Given the description of an element on the screen output the (x, y) to click on. 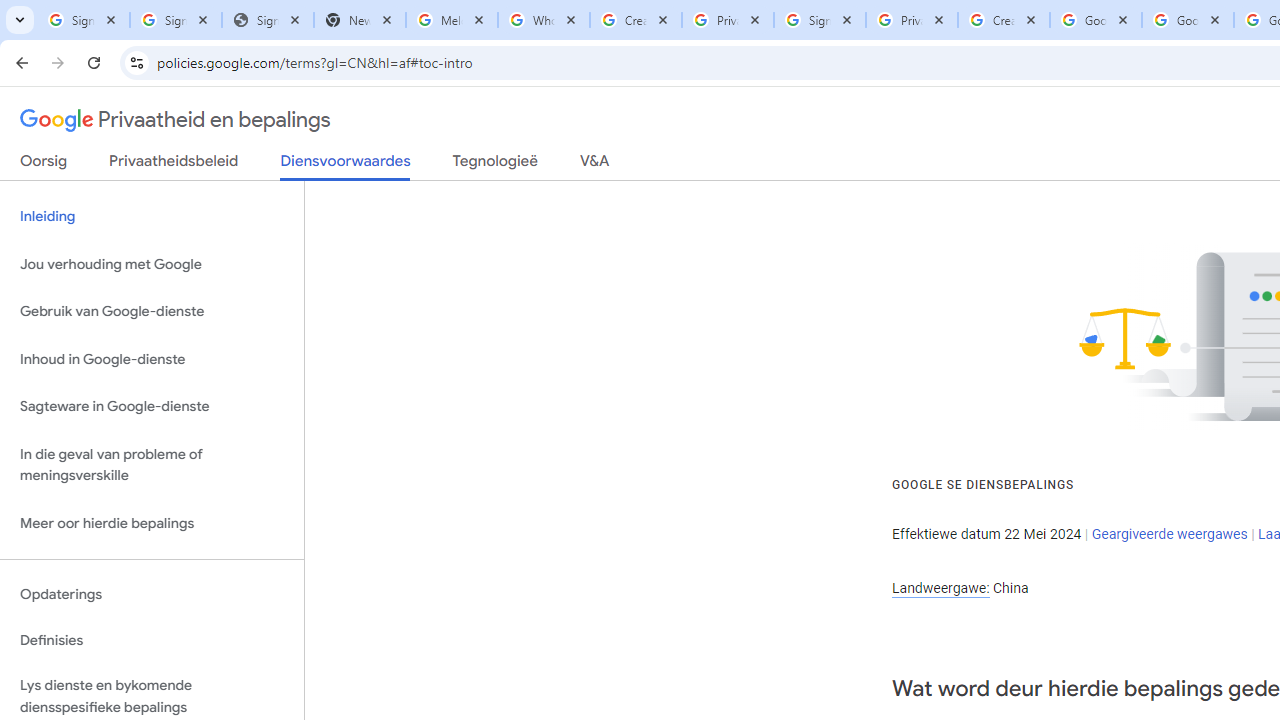
In die geval van probleme of meningsverskille (152, 464)
Opdaterings (152, 594)
Sign In - USA TODAY (267, 20)
Definisies (152, 640)
Privaatheidsbeleid (173, 165)
